Given the description of an element on the screen output the (x, y) to click on. 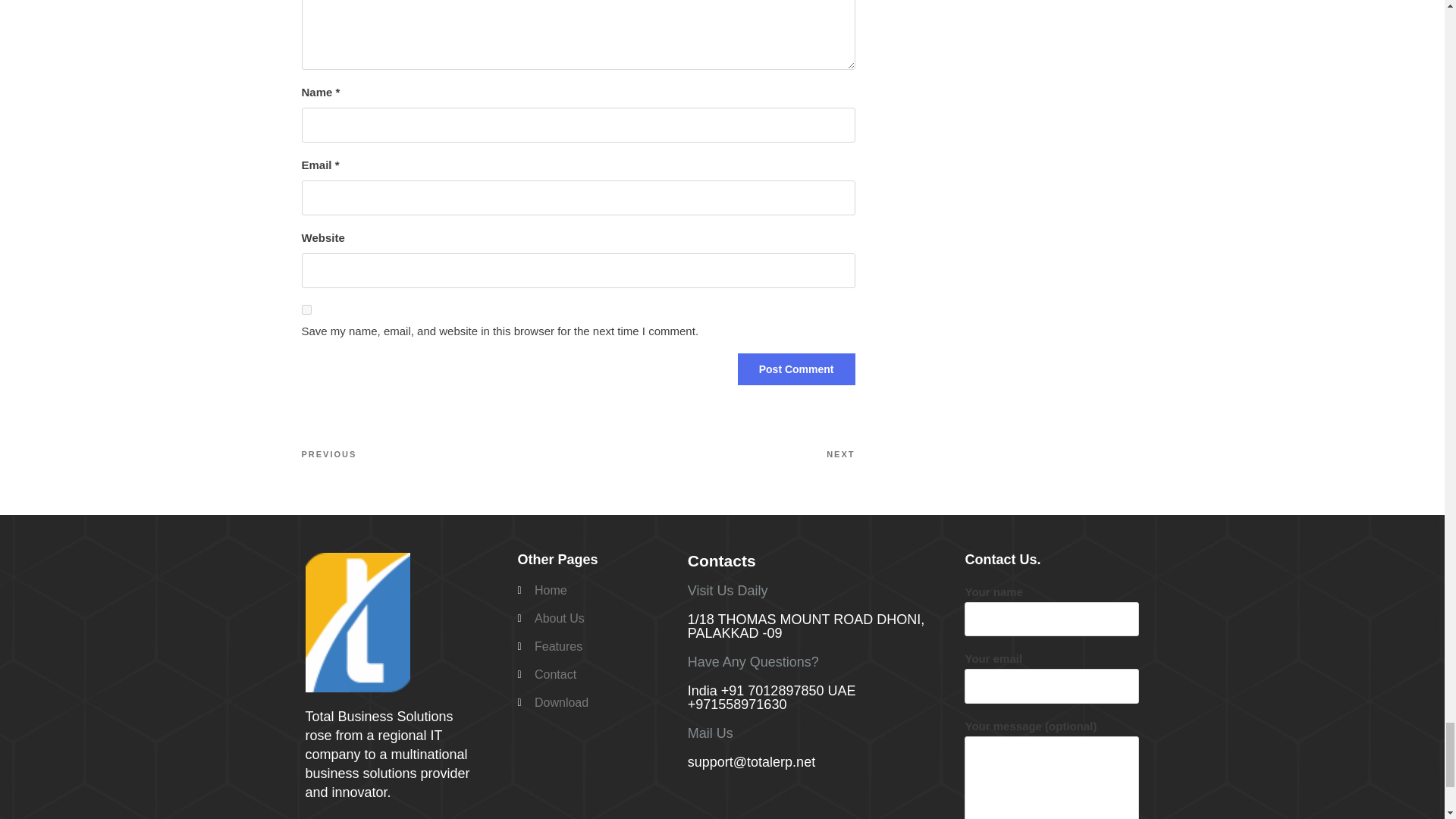
Post Comment (797, 368)
NEXT (716, 454)
About Us (593, 618)
Features (593, 647)
Post Comment (797, 368)
PREVIOUS (439, 454)
Download (593, 702)
yes (306, 309)
Home (593, 590)
Contact (593, 674)
